Given the description of an element on the screen output the (x, y) to click on. 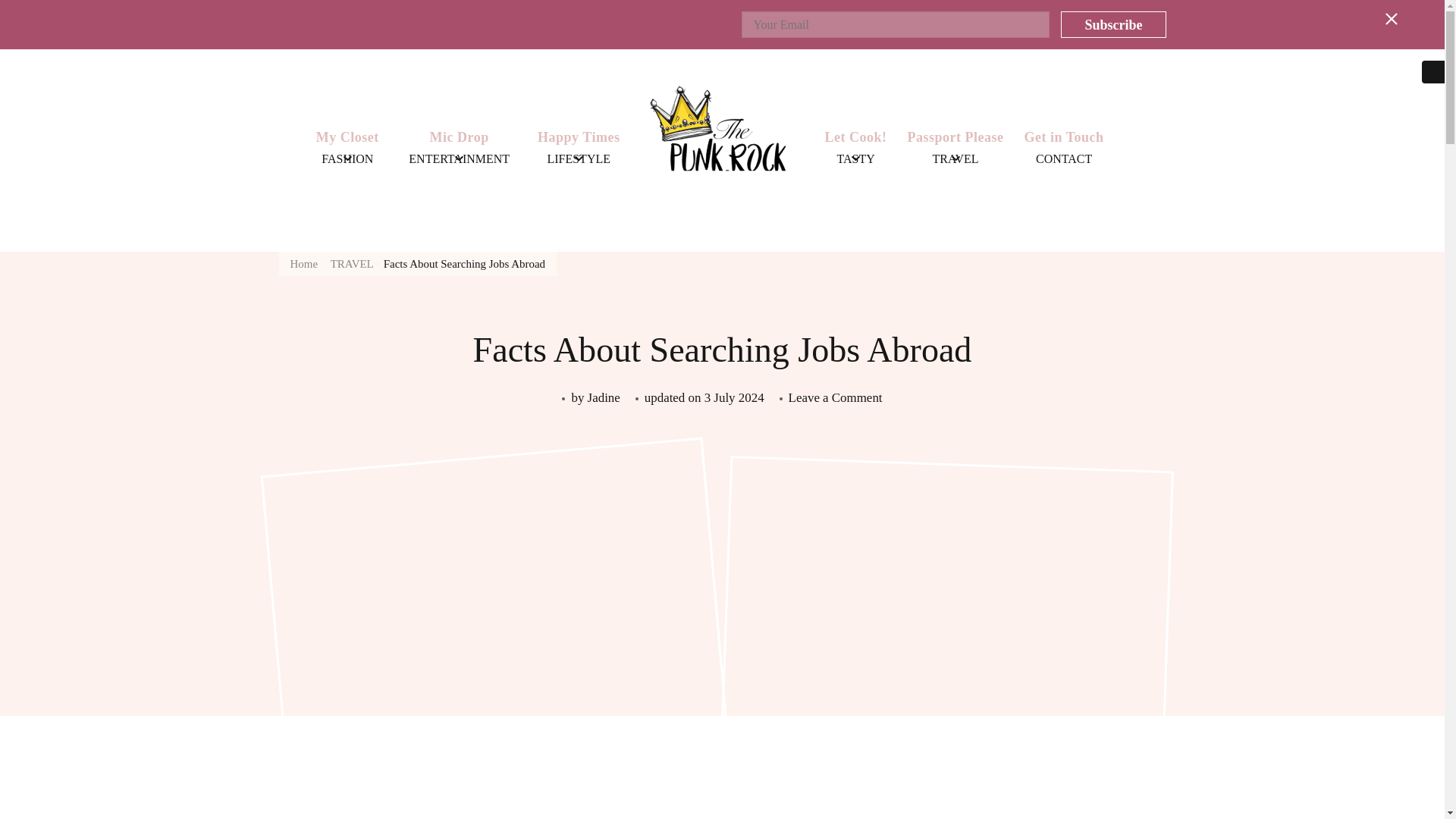
TRAVEL (955, 159)
FASHION (347, 159)
CONTACT (1063, 159)
Subscribe (1113, 24)
ENTERTAINMENT (458, 159)
The Punk Rock Princess (903, 261)
Subscribe (1113, 24)
TASTY (855, 159)
LIFESTYLE (577, 159)
